Given the description of an element on the screen output the (x, y) to click on. 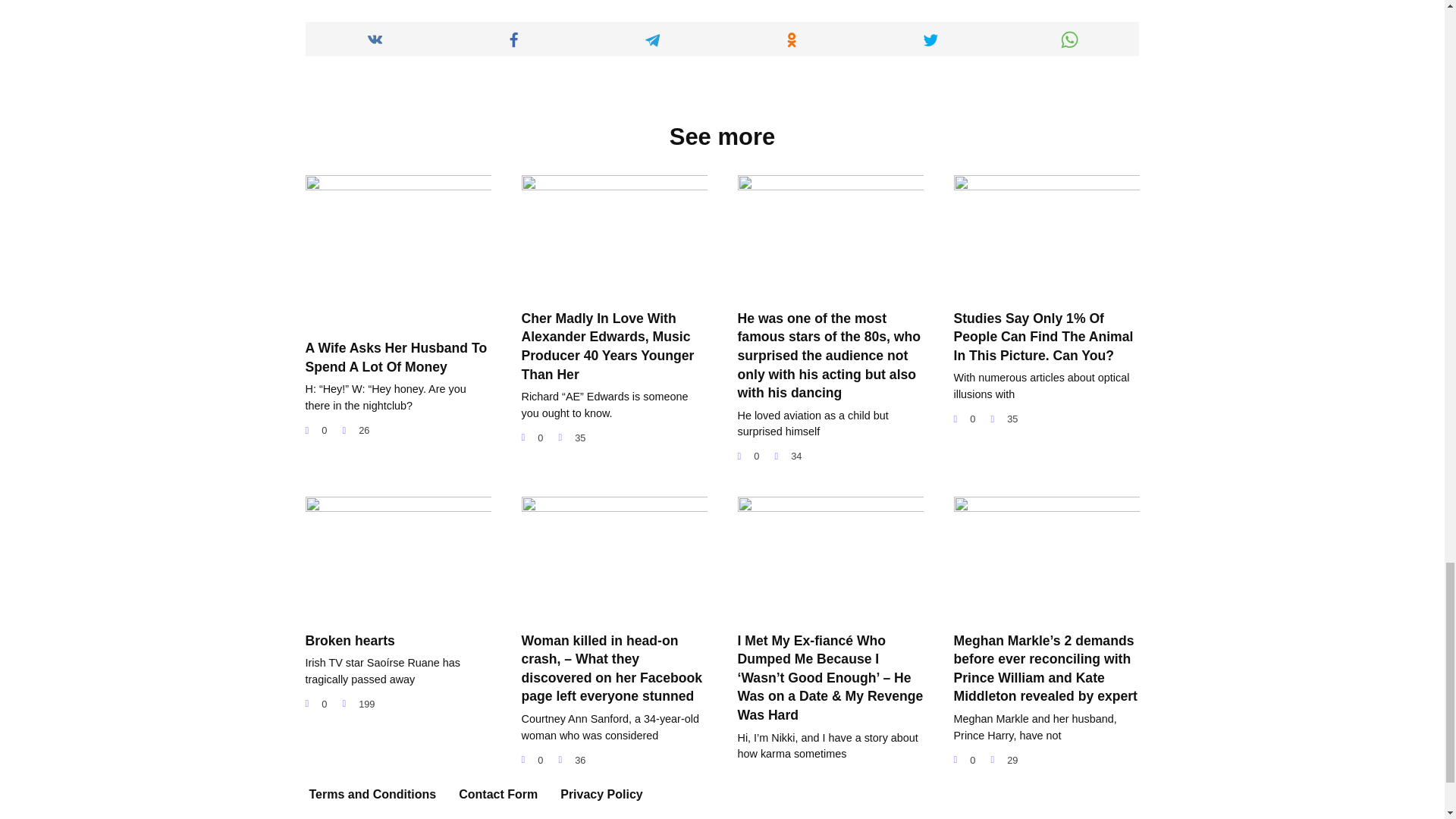
Broken hearts (349, 640)
A Wife Asks Her Husband To Spend A Lot Of Money (395, 357)
